Given the description of an element on the screen output the (x, y) to click on. 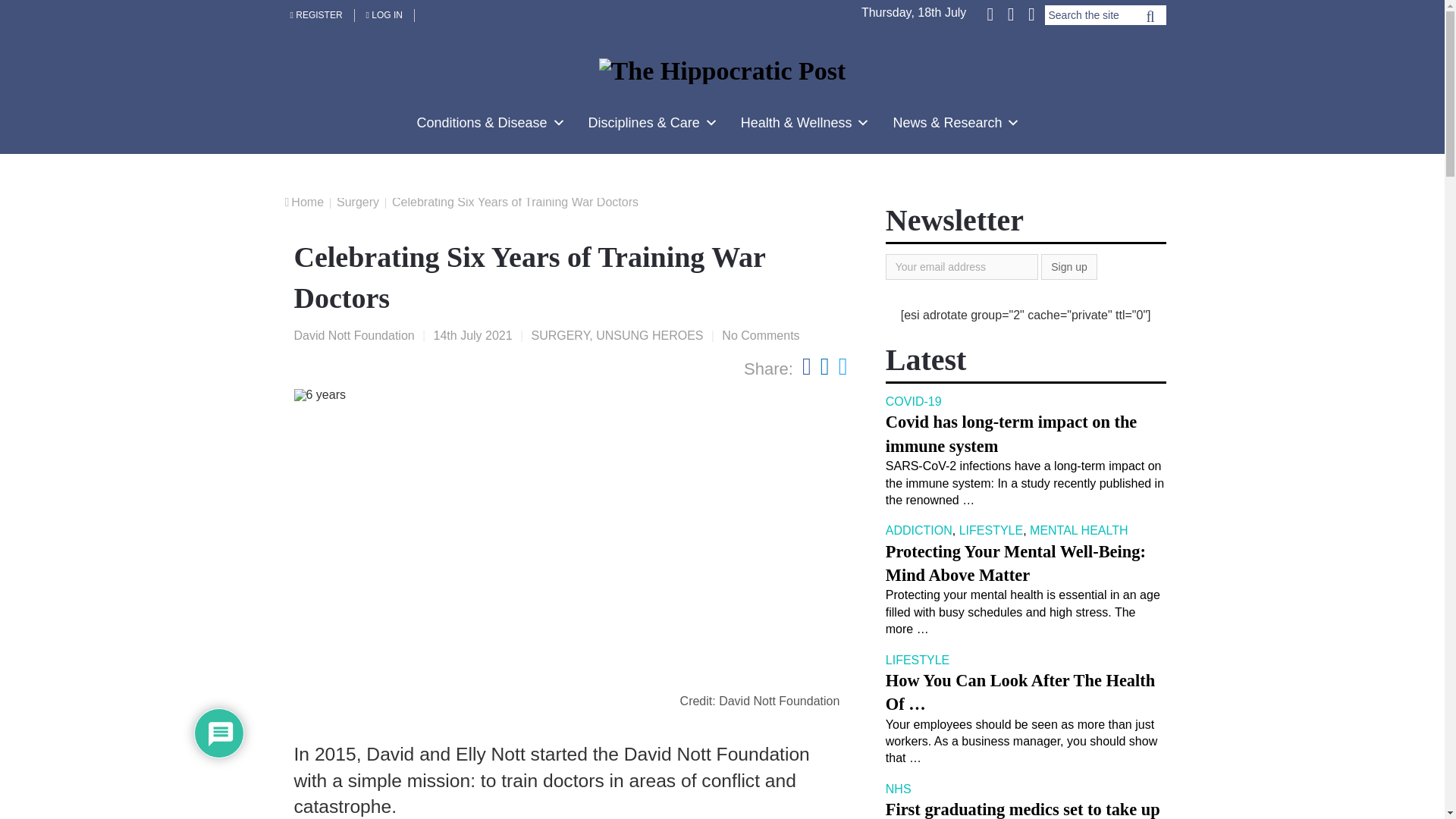
search (1150, 20)
LOG IN (384, 15)
Follow The Hippocratic Post on Twitter (1010, 13)
View all posts in Surgery (560, 335)
search (1150, 20)
REGISTER (317, 15)
Follow The Hippocratic Post on LinkedIn (1030, 13)
Like The Hippocratic Post on Facebook (991, 13)
Sign up (1068, 266)
Posts by David Nott Foundation (354, 335)
View all posts in Unsung Heroes (649, 335)
